Given the description of an element on the screen output the (x, y) to click on. 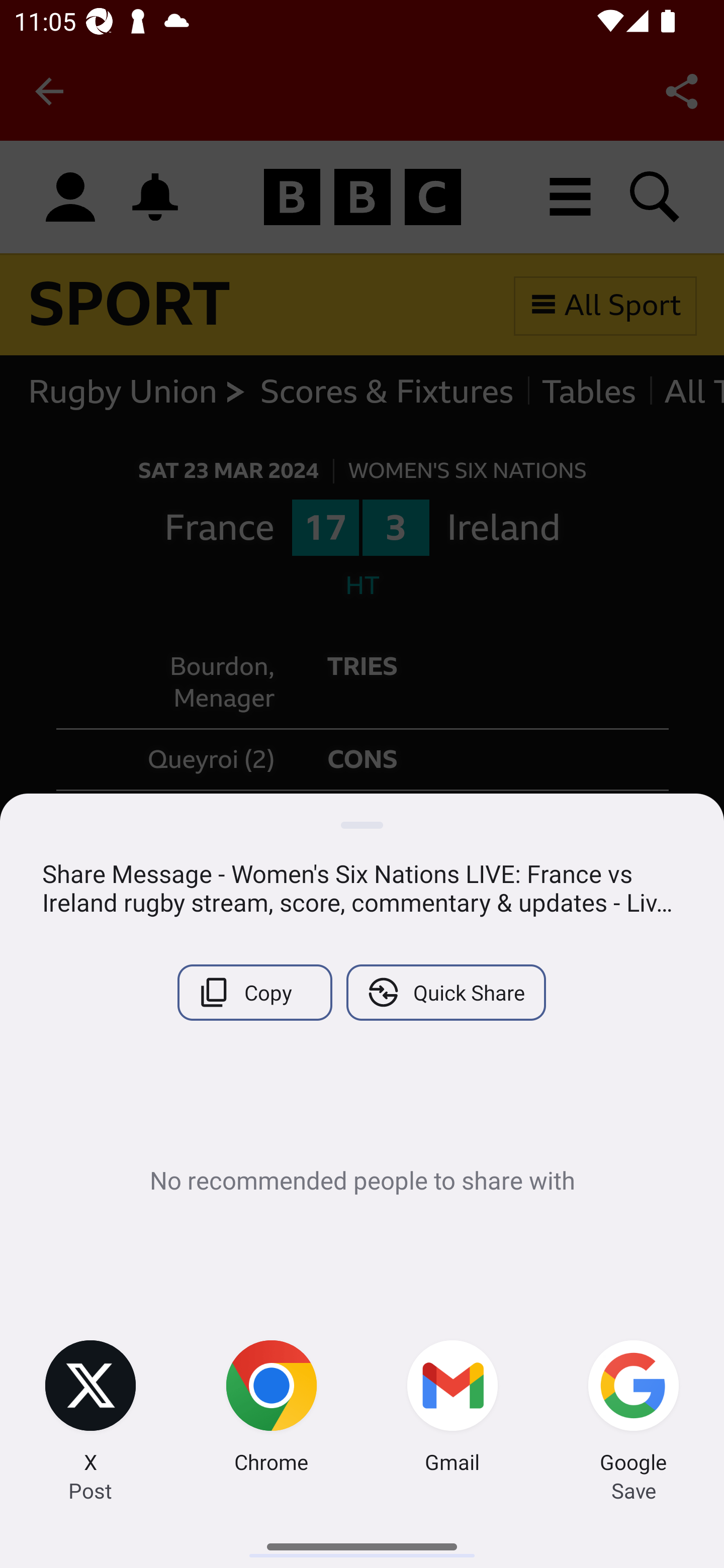
Copy (254, 992)
Quick Share (445, 992)
X Post (90, 1409)
Chrome (271, 1409)
Gmail (452, 1409)
Google Save (633, 1409)
